Given the description of an element on the screen output the (x, y) to click on. 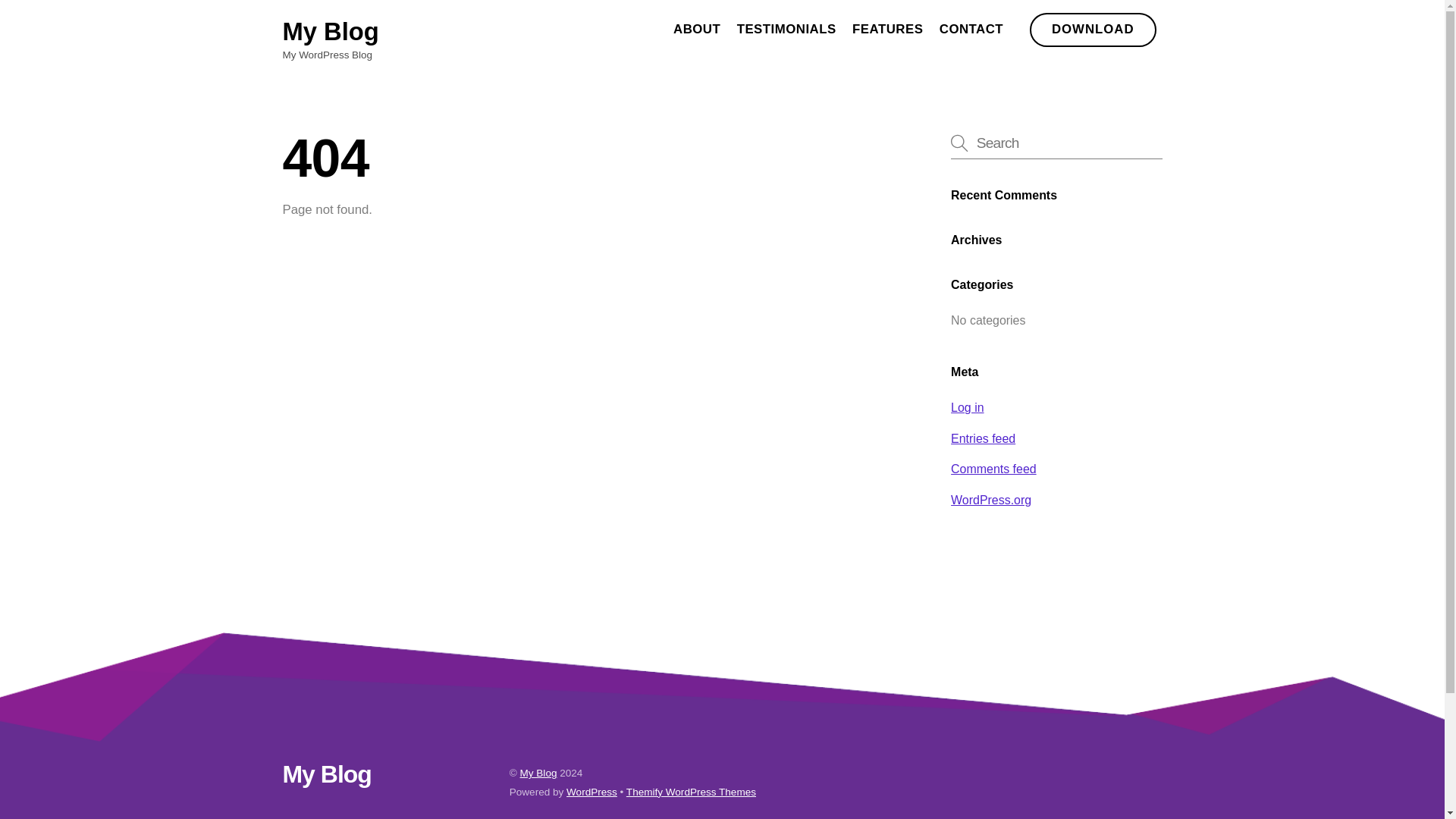
My Blog (326, 773)
Search (1055, 142)
My Blog (721, 29)
CONTACT (330, 31)
ABOUT (971, 29)
Log in (696, 29)
TESTIMONIALS (967, 407)
My Blog (786, 29)
My Blog (538, 772)
WordPress (330, 31)
Comments feed (591, 791)
DOWNLOAD (993, 468)
FEATURES (1092, 29)
WordPress.org (887, 29)
